Given the description of an element on the screen output the (x, y) to click on. 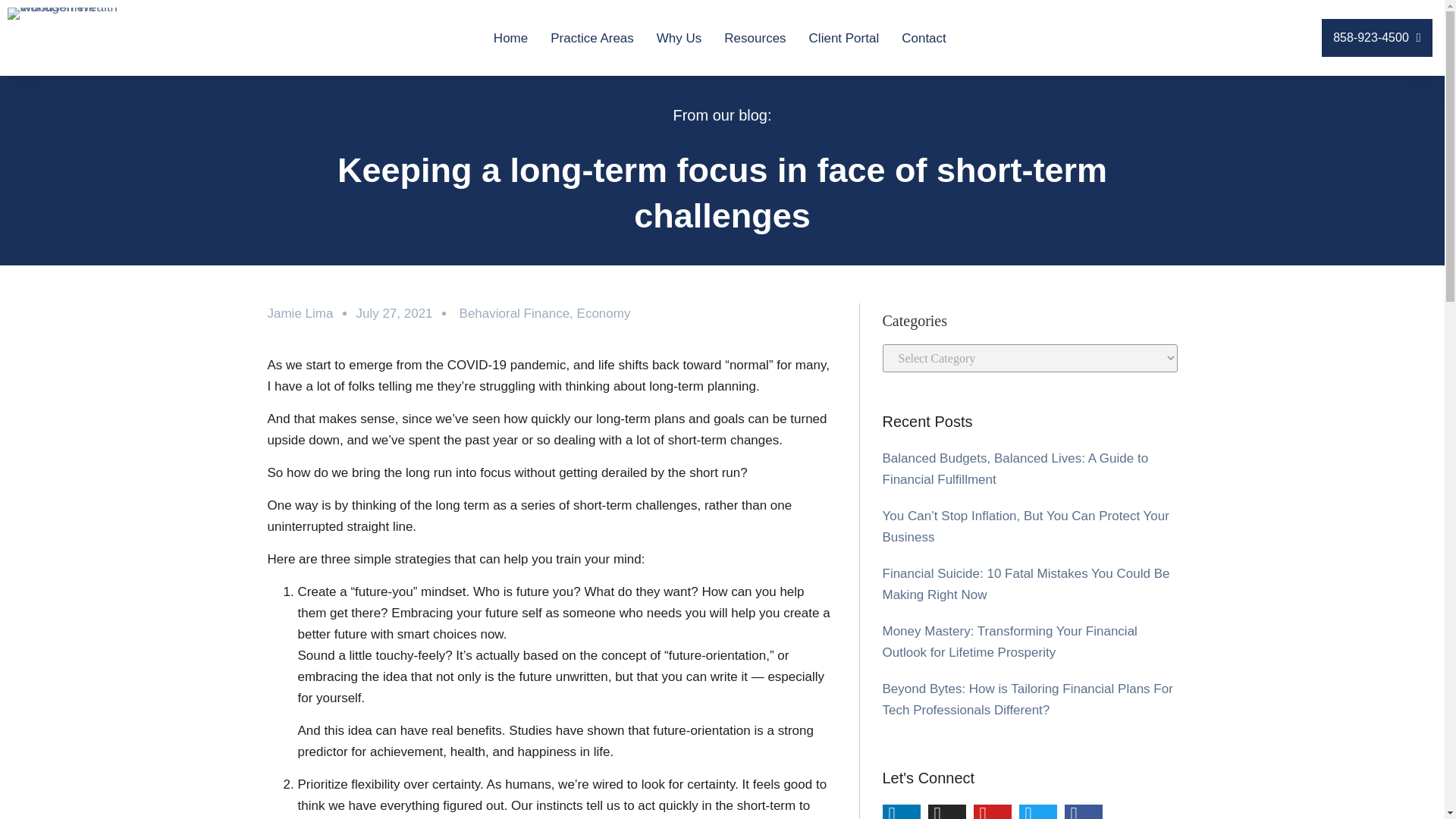
Contact (923, 37)
Resources (754, 37)
Jamie Lima (299, 313)
Why Us (678, 37)
Why Us (678, 37)
Practice Areas (591, 37)
858-923-4500 (1376, 37)
Practice Areas (591, 37)
Resources (754, 37)
Client Portal (844, 37)
